Given the description of an element on the screen output the (x, y) to click on. 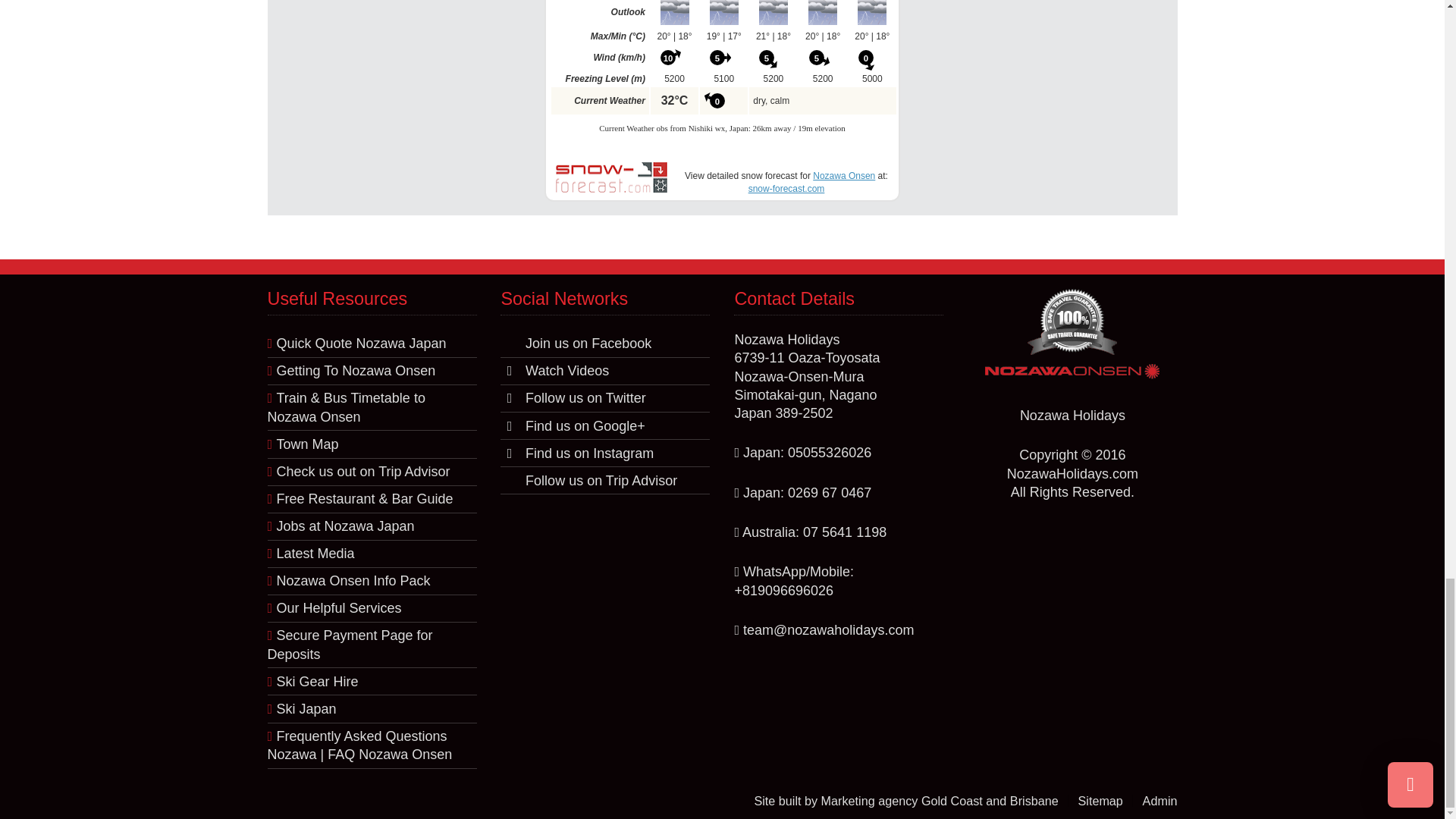
Web Site Marketing Experts (939, 800)
